Given the description of an element on the screen output the (x, y) to click on. 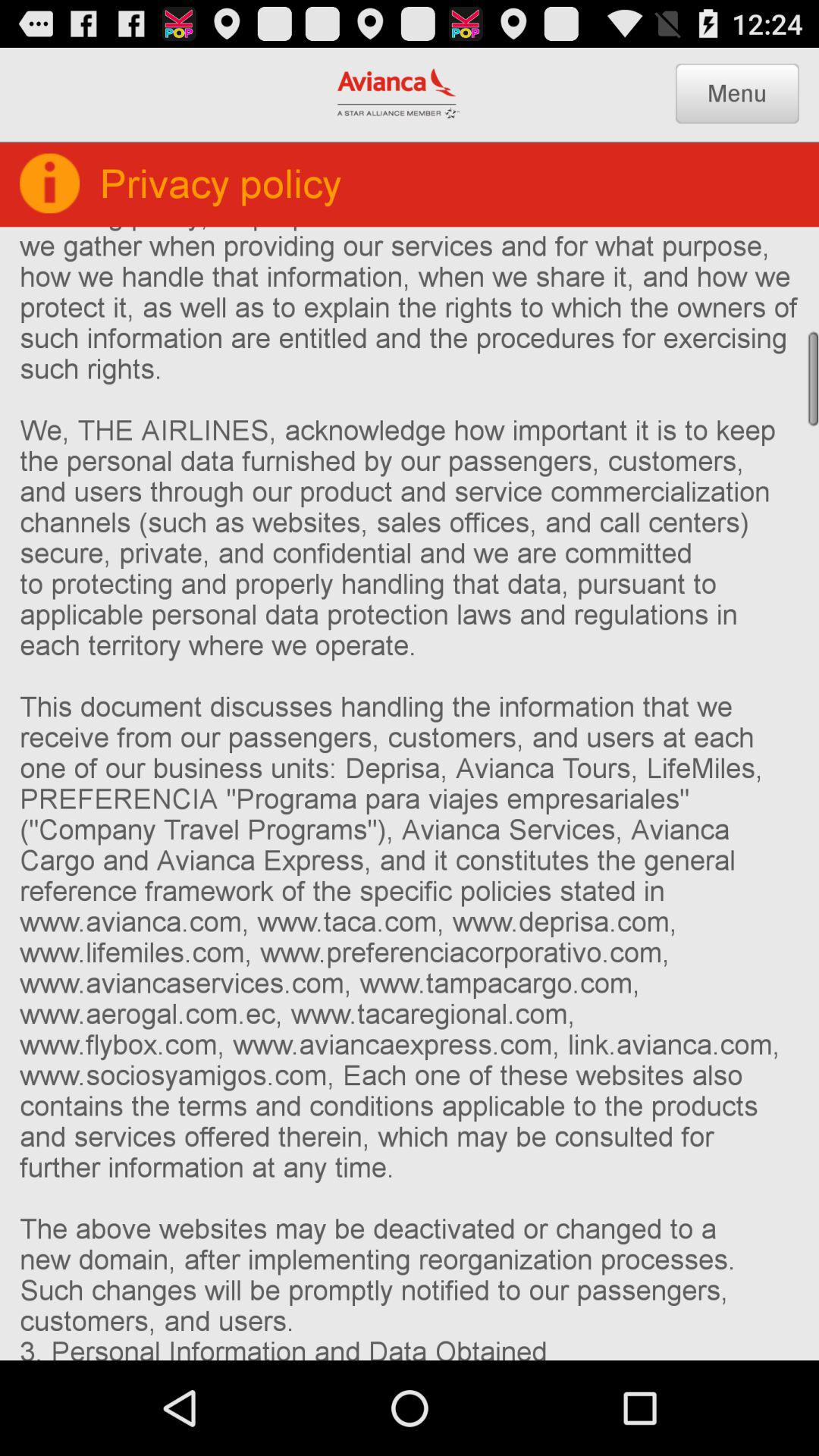
press the item above the 1 who we (737, 93)
